Given the description of an element on the screen output the (x, y) to click on. 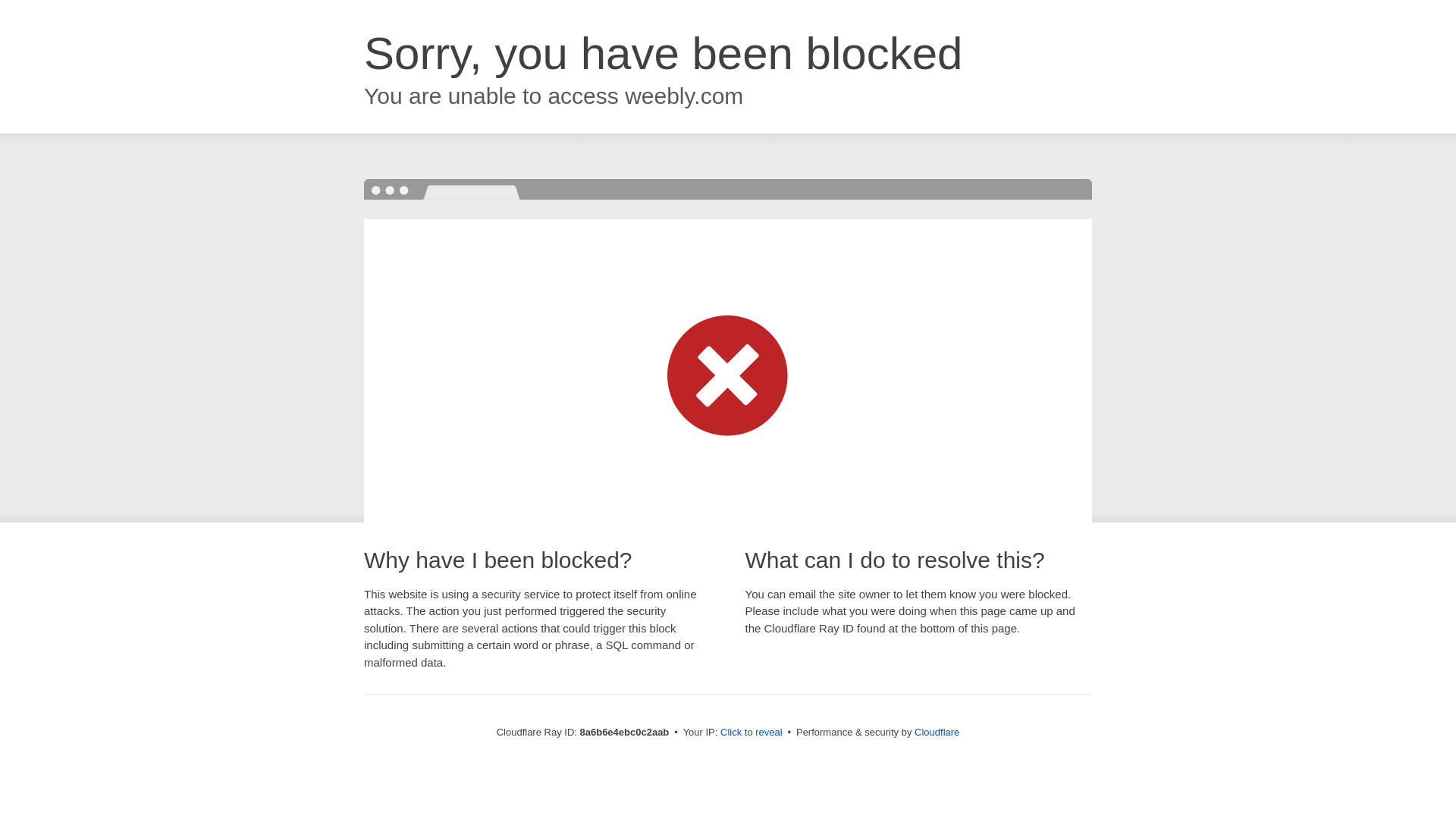
Cloudflare (936, 731)
Click to reveal (751, 732)
